Given the description of an element on the screen output the (x, y) to click on. 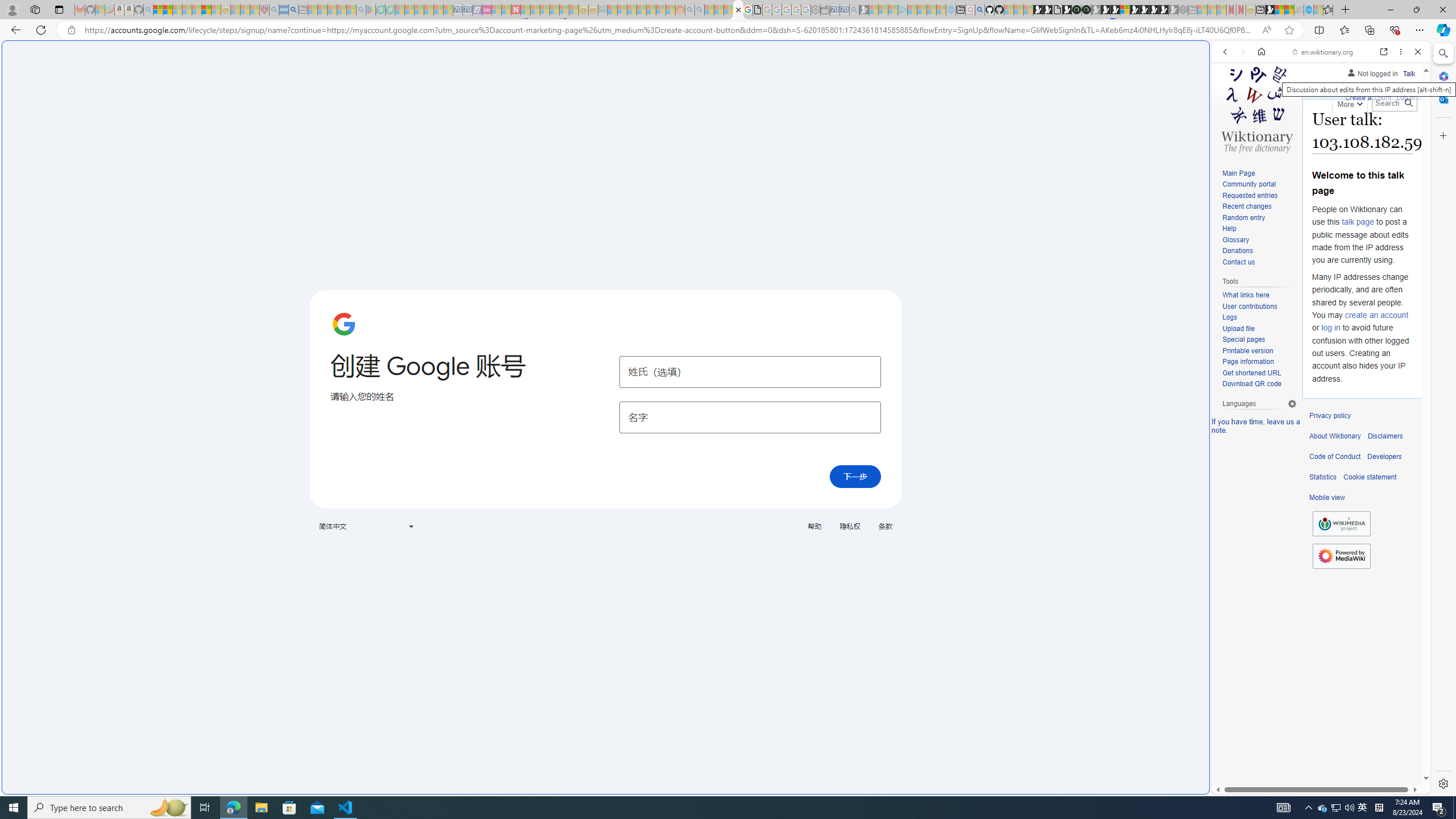
log in (1330, 327)
Page information (1247, 361)
Contributions (1352, 84)
Tabs you've opened (885, 151)
